Given the description of an element on the screen output the (x, y) to click on. 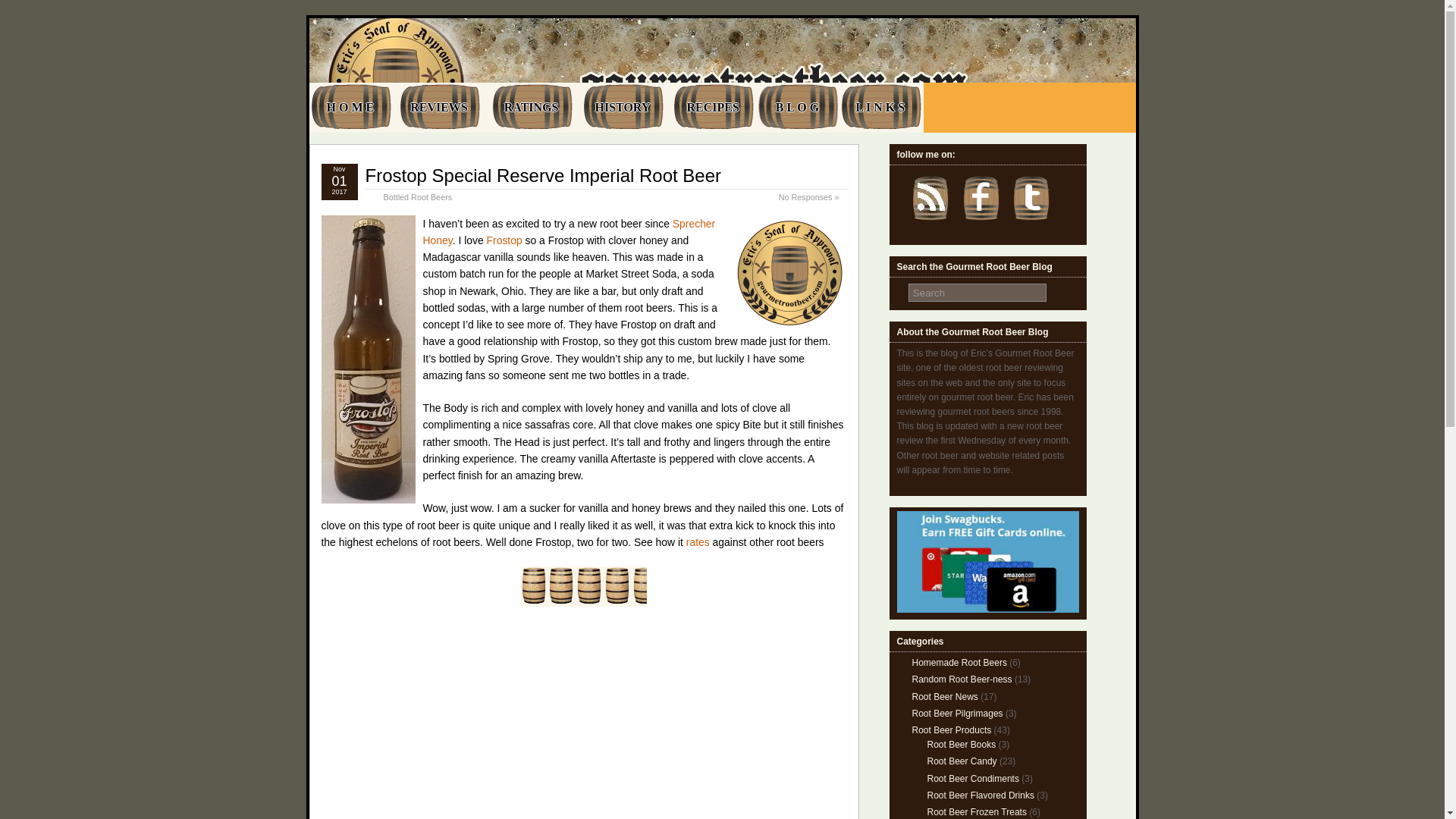
B L O G (798, 107)
Root Beer Books (960, 744)
rates (697, 541)
H O M E (350, 107)
Root Beer Frozen Treats (976, 811)
Random Root Beer-ness (961, 679)
REVIEWS (439, 107)
Root Beer Flavored Drinks (979, 795)
L I N K S (880, 107)
Frostop Special Reserve Imperial Root Beer (543, 175)
Bottled Root Beers (418, 196)
Root Beer Products (951, 729)
HISTORY (622, 107)
Frostop (504, 240)
RECIPES (712, 107)
